Given the description of an element on the screen output the (x, y) to click on. 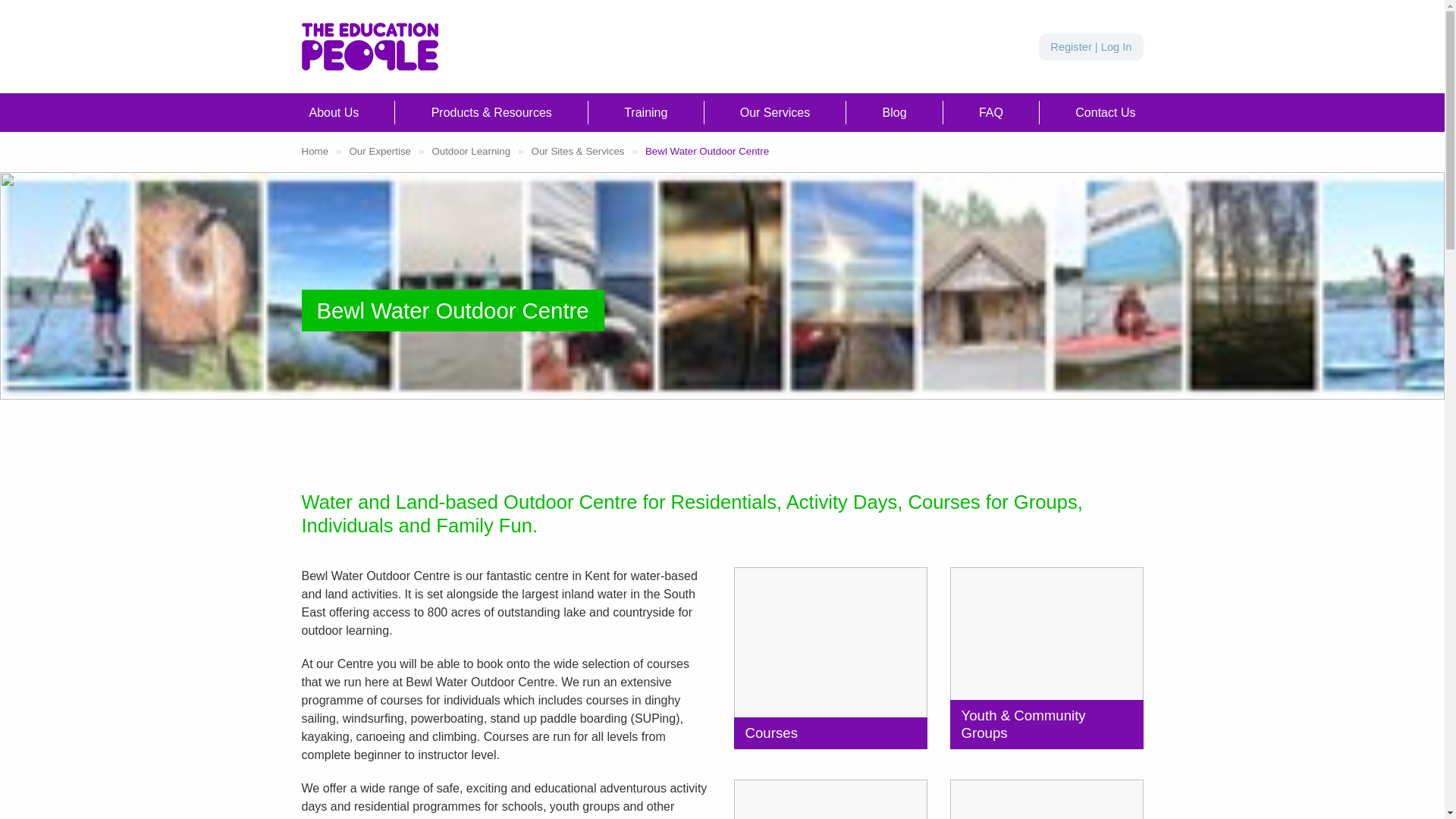
Blog (894, 112)
About Us (333, 112)
Our Services (774, 112)
